Given the description of an element on the screen output the (x, y) to click on. 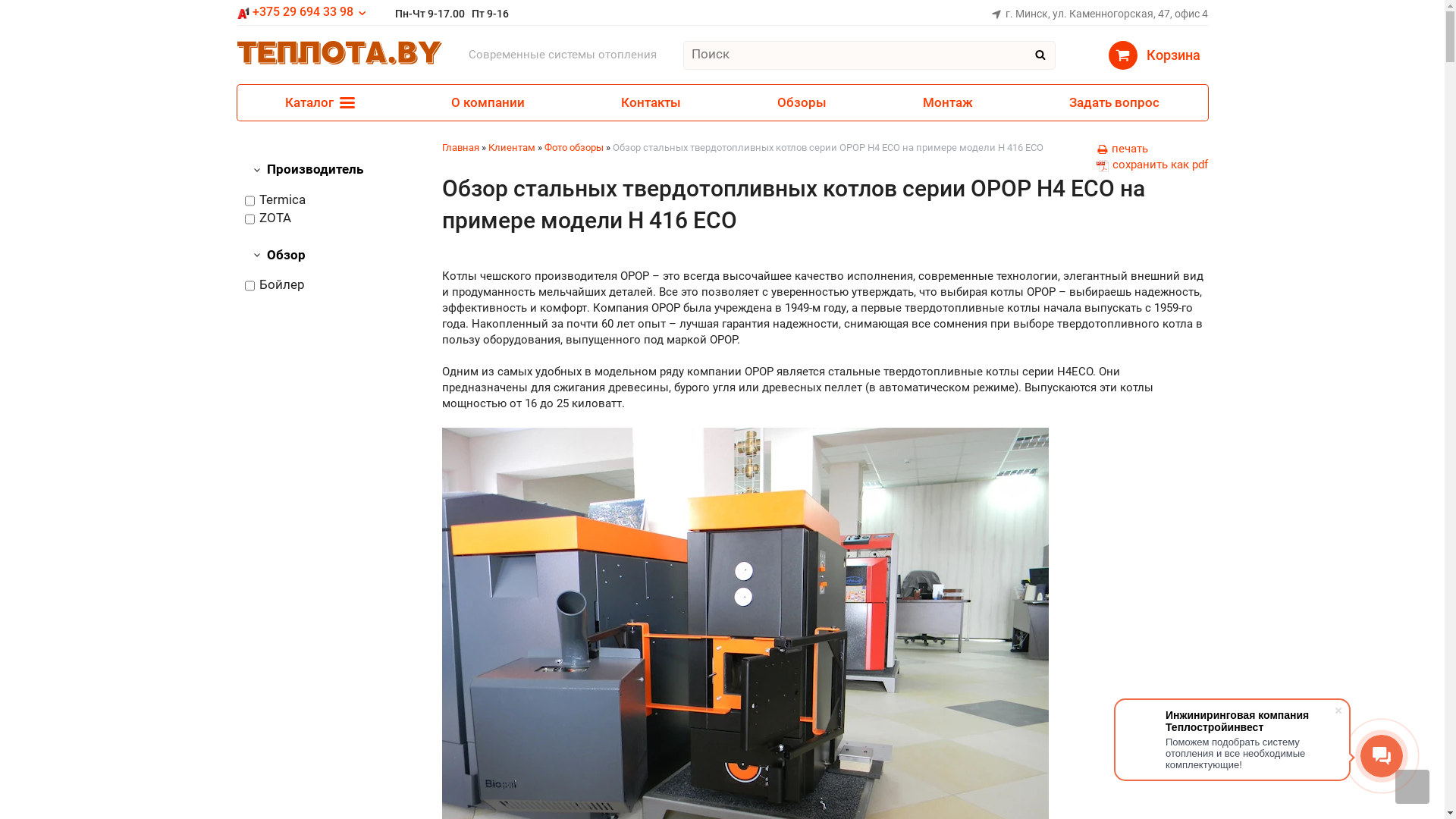
+375 29 694 33 98 Element type: text (301, 11)
